Given the description of an element on the screen output the (x, y) to click on. 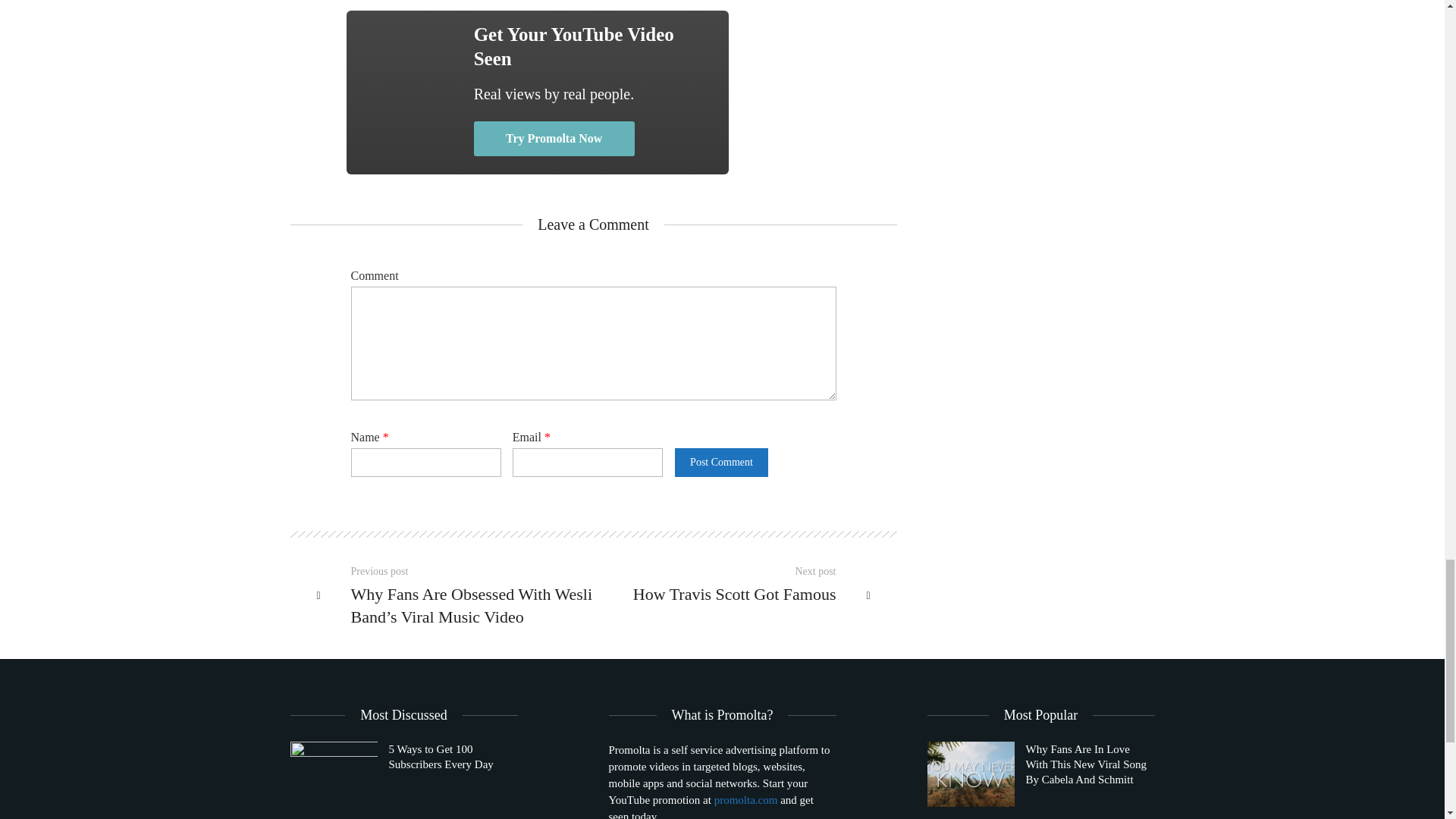
Try Promolta Now (554, 138)
promolta.com (745, 799)
Try Promolta Now (554, 138)
5 Ways to Get 100 Subscribers Every Day (402, 774)
How Travis Scott Got Famous (722, 593)
Post Comment (721, 462)
Post Comment (721, 462)
5 Ways to Get 100 Subscribers Every Day (333, 774)
How to Get Your Music Picked for a Commercial (409, 85)
